Given the description of an element on the screen output the (x, y) to click on. 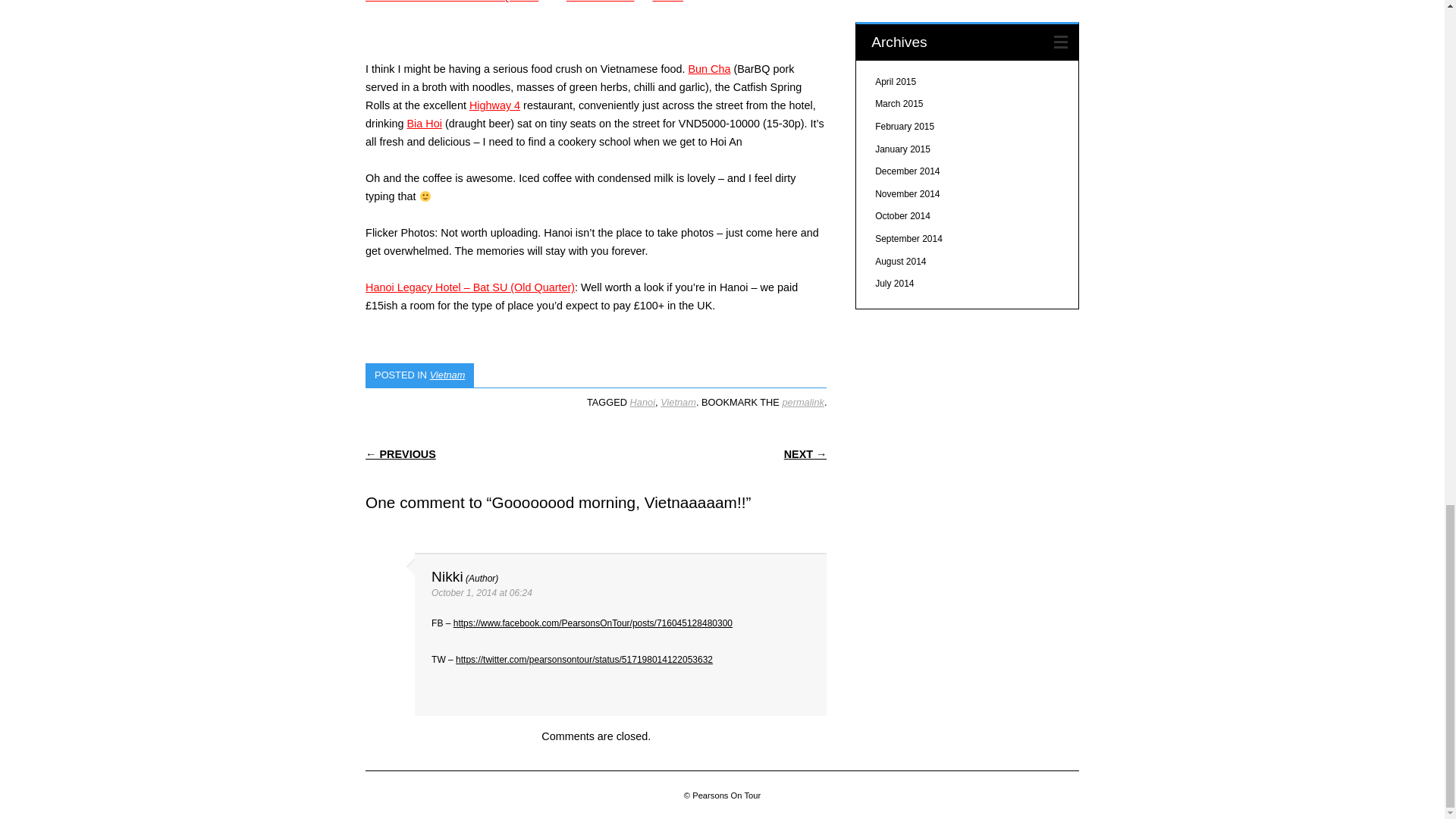
October 1, 2014 at 06:24 (481, 593)
permalink (802, 401)
Bia Hoi (423, 123)
Vietnam (678, 401)
Hanoi Legacy - Bat Su (470, 287)
Permalink to Goooooood morning, Vietnaaaaam!! (802, 401)
Bia Hoi (423, 123)
Bun Cha (708, 69)
Hanoi (642, 401)
Vimeo (667, 1)
